Given the description of an element on the screen output the (x, y) to click on. 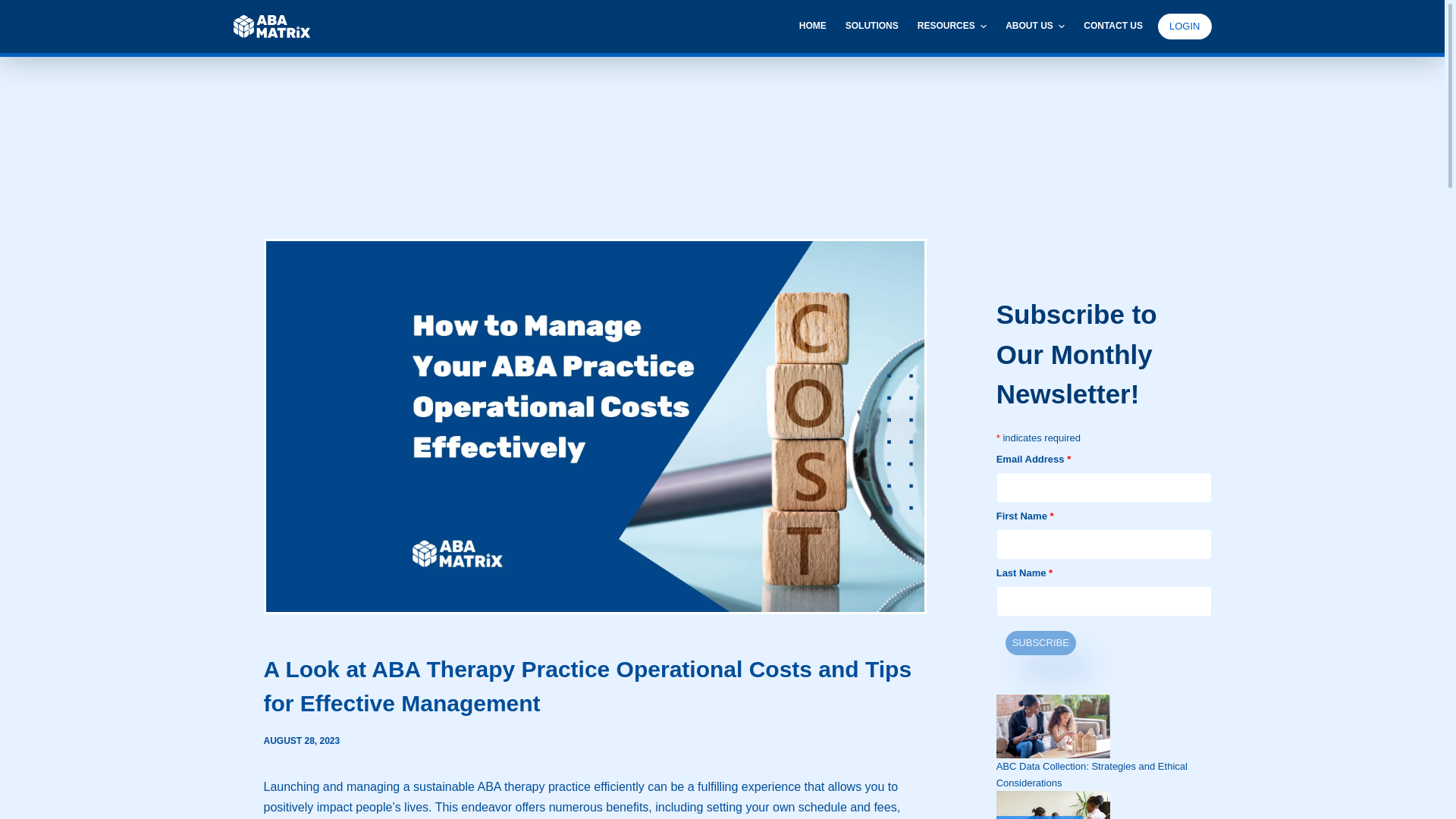
Subscribe (1040, 642)
ABOUT US (1034, 26)
Subscribe (1040, 642)
LOGIN (1184, 26)
RESOURCES (951, 26)
Skip to content (15, 7)
ABC Data Collection: Strategies and Ethical Considerations (1091, 773)
SOLUTIONS (871, 26)
CONTACT US (1108, 26)
